Given the description of an element on the screen output the (x, y) to click on. 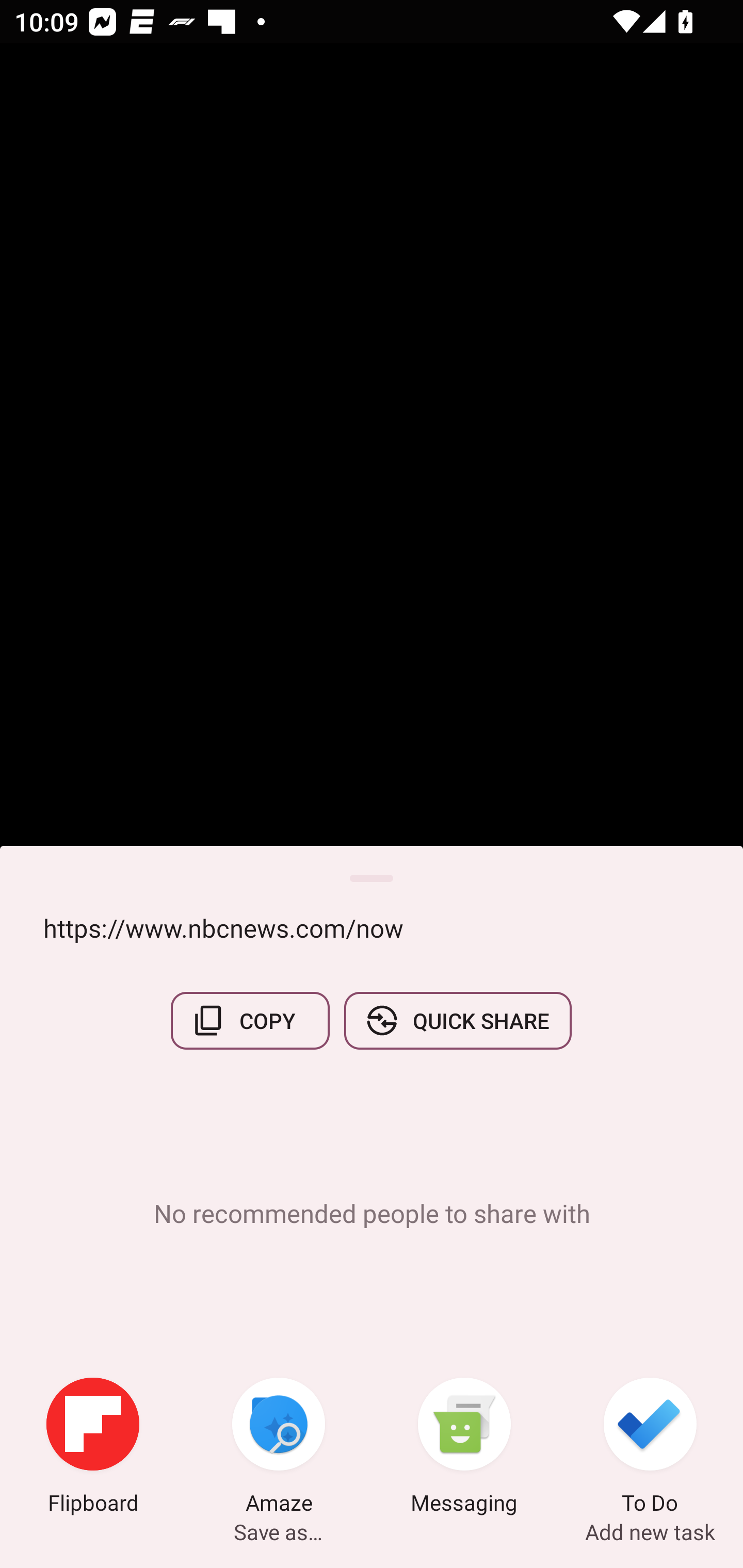
COPY (249, 1020)
QUICK SHARE (457, 1020)
Flipboard (92, 1448)
Amaze Save as… (278, 1448)
Messaging (464, 1448)
To Do Add new task (650, 1448)
